Given the description of an element on the screen output the (x, y) to click on. 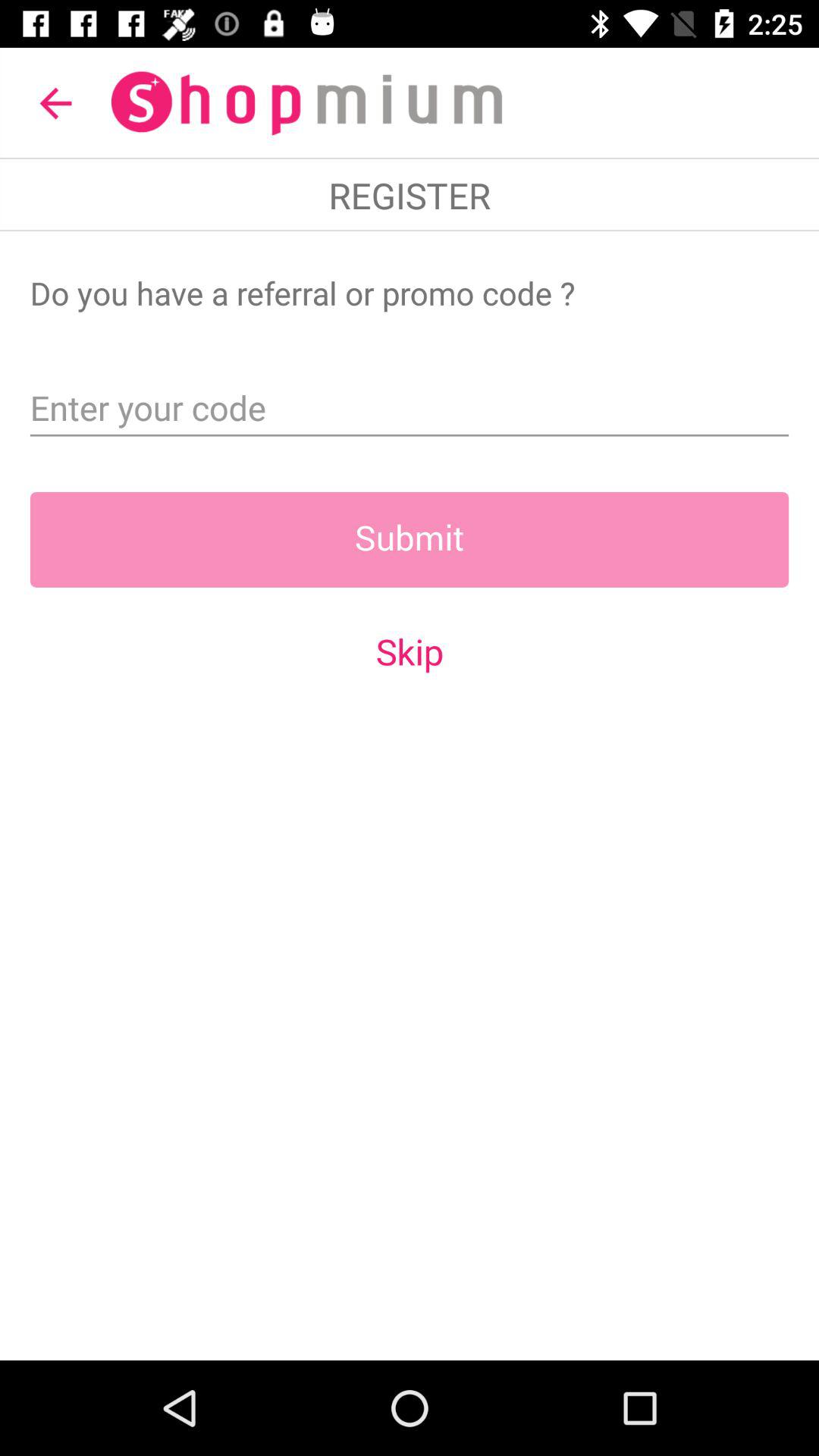
click the icon below submit item (409, 651)
